Given the description of an element on the screen output the (x, y) to click on. 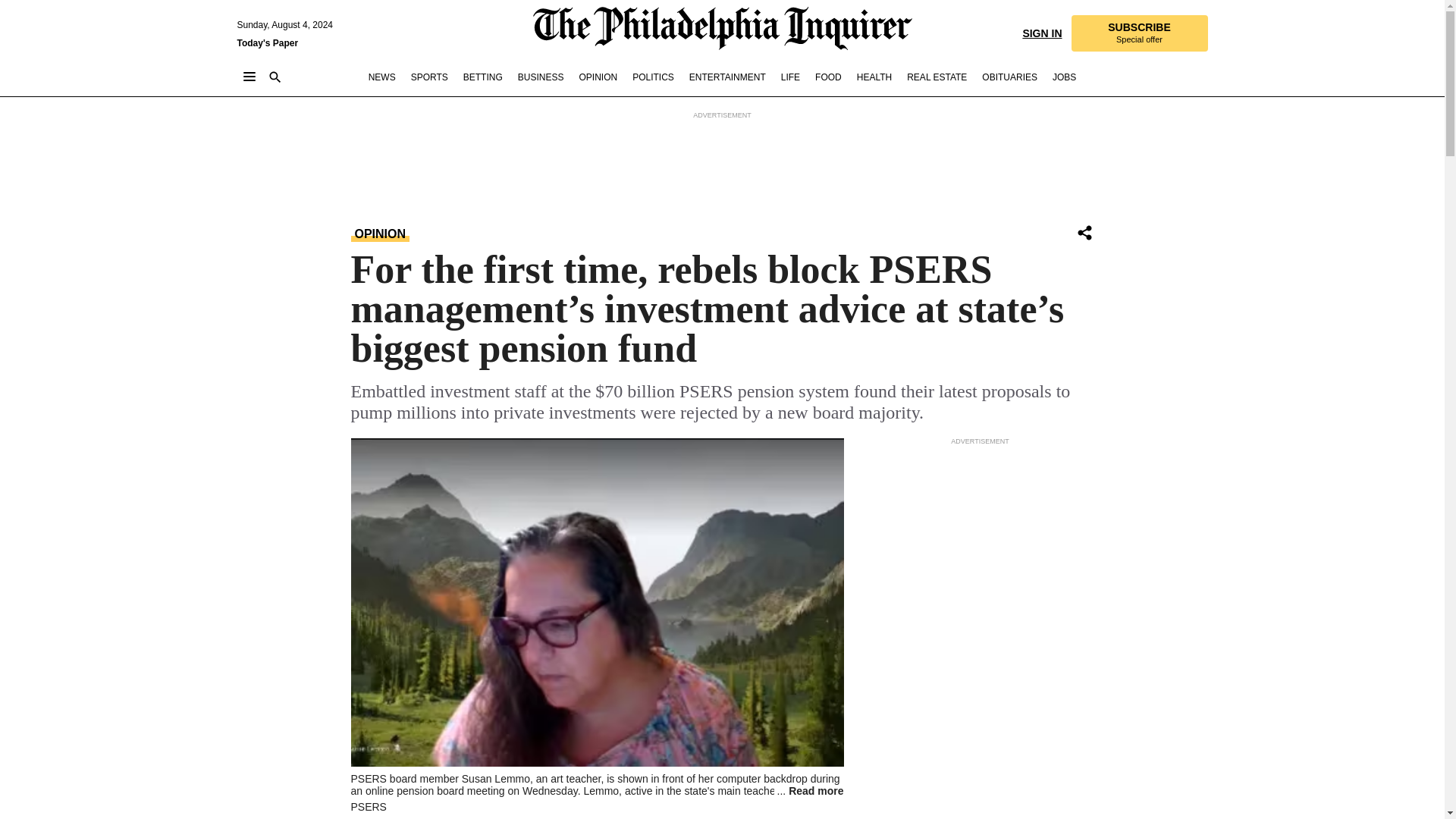
Share Icon (1084, 232)
POLITICS (652, 77)
Read more (809, 790)
NEWS (382, 77)
SIGN IN (1041, 32)
OBITUARIES (1008, 77)
SPORTS (1138, 33)
HEALTH (429, 77)
JOBS (874, 77)
